Given the description of an element on the screen output the (x, y) to click on. 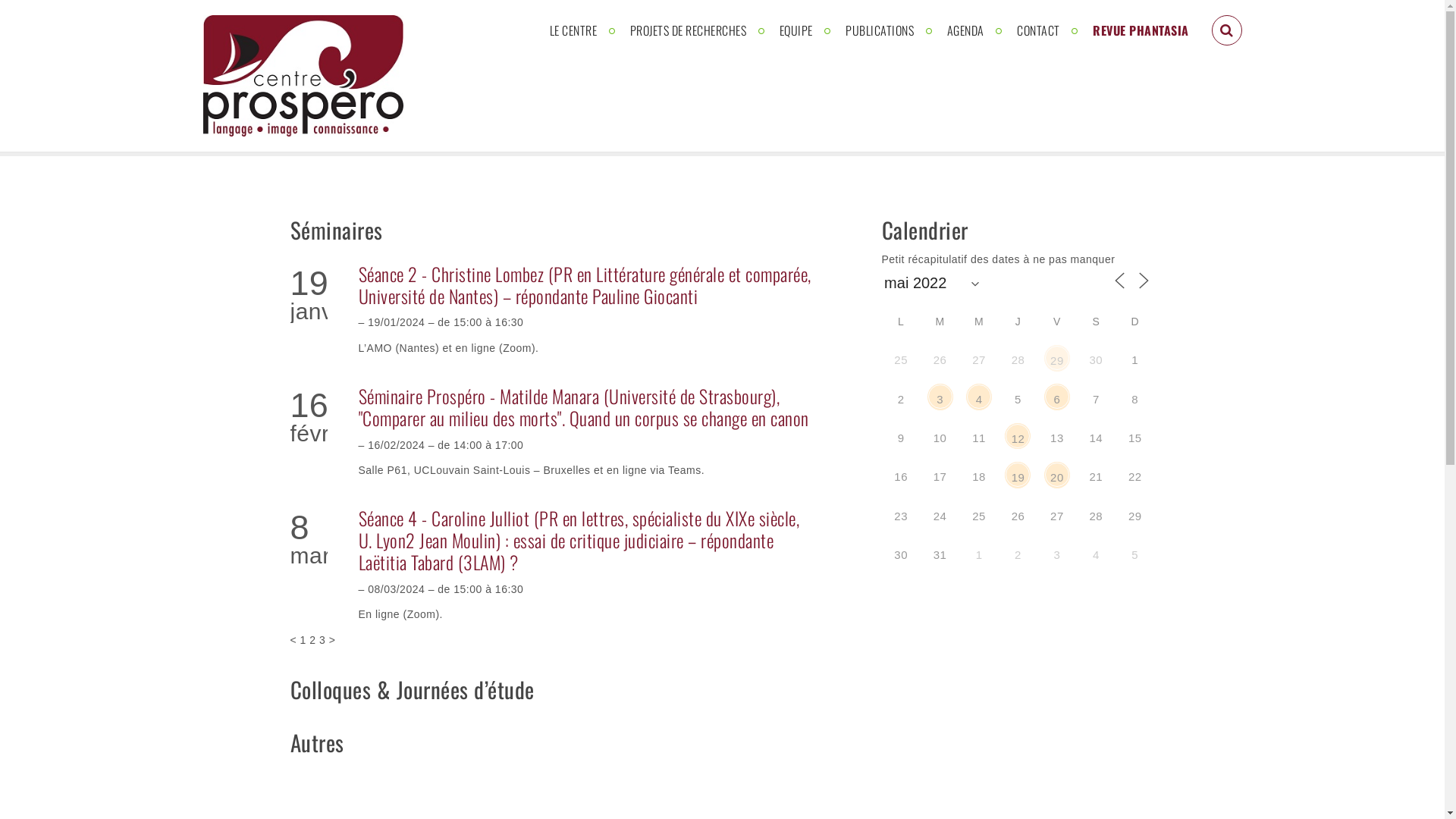
> Element type: text (332, 639)
PROJETS DE RECHERCHES Element type: text (687, 30)
6 Element type: text (1056, 396)
20 Element type: text (1056, 474)
CONTACT Element type: text (1038, 30)
REVUE PHANTASIA Element type: text (1140, 30)
12 Element type: text (1017, 435)
< Element type: text (292, 639)
19 Element type: text (1017, 474)
PUBLICATIONS Element type: text (879, 30)
AGENDA Element type: text (964, 30)
LE CENTRE Element type: text (572, 30)
3 Element type: text (940, 396)
1 Element type: text (303, 639)
EQUIPE Element type: text (796, 30)
29 Element type: text (1056, 357)
3 Element type: text (322, 639)
4 Element type: text (978, 396)
